Given the description of an element on the screen output the (x, y) to click on. 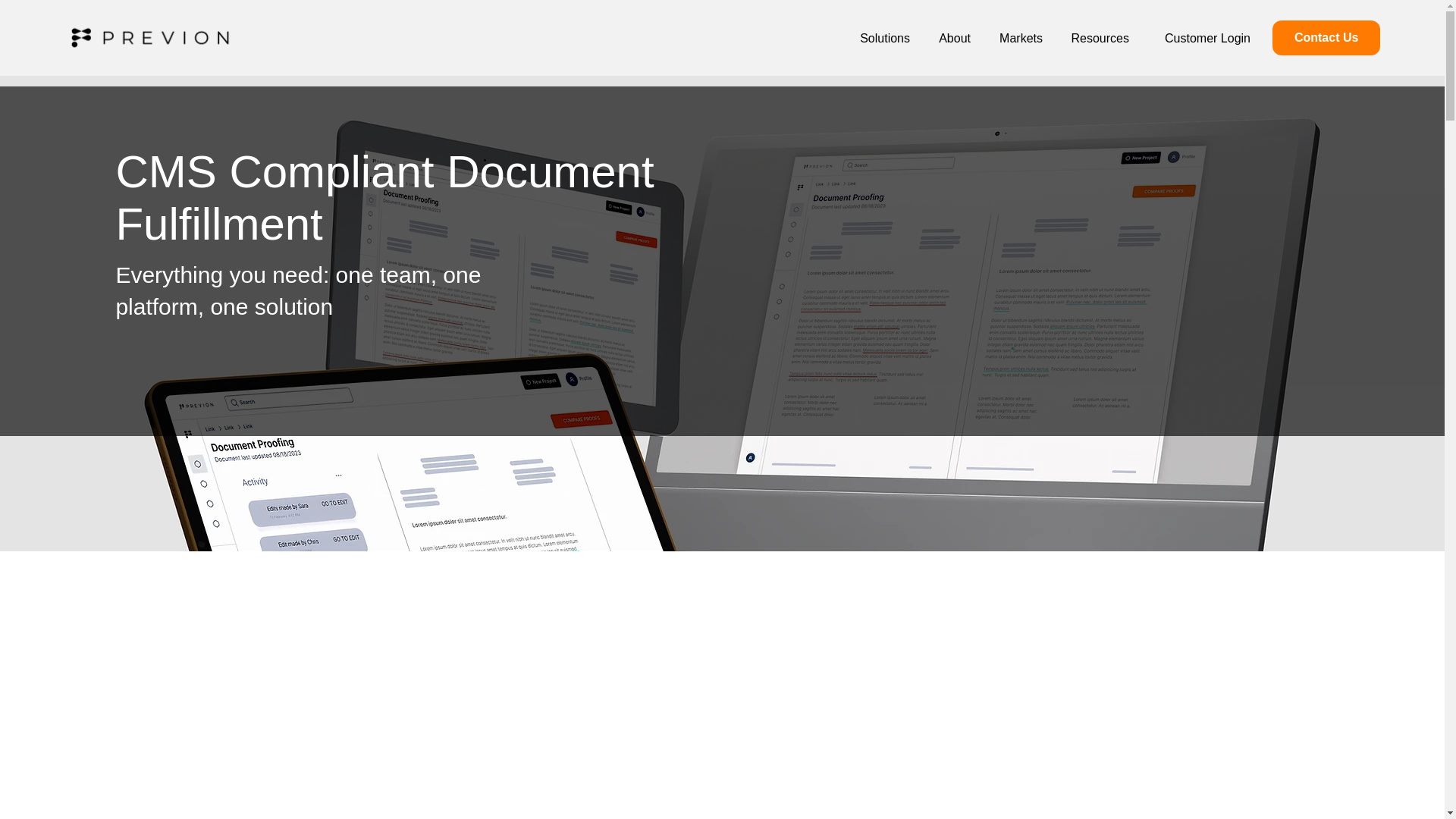
Contact Us (1326, 37)
Resources (1097, 38)
About (951, 38)
Markets (1017, 38)
